Given the description of an element on the screen output the (x, y) to click on. 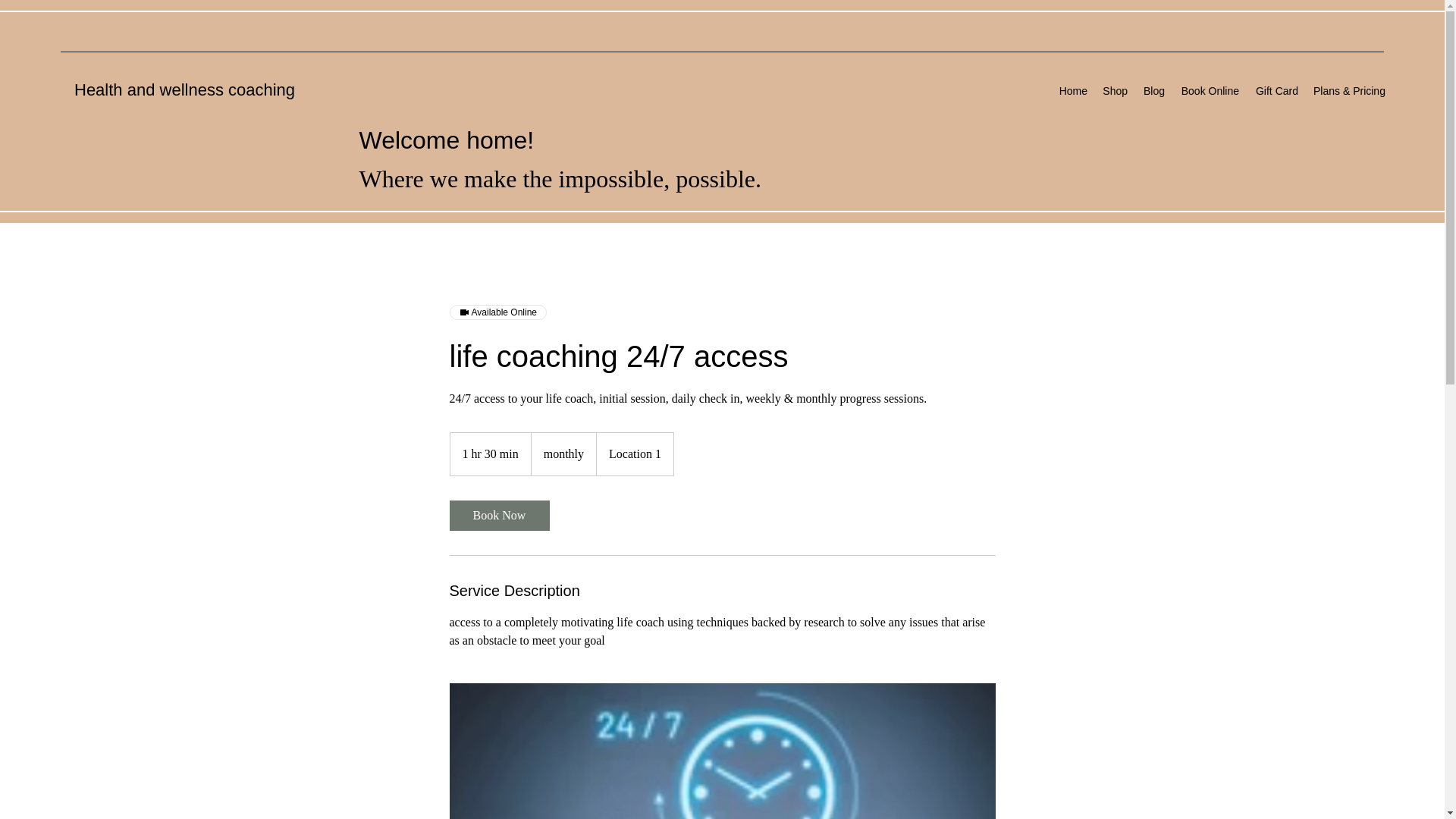
Health and wellness coaching (184, 89)
Shop (1114, 90)
Book Now (498, 515)
Home (1072, 90)
Blog (1153, 90)
Book Online (1209, 90)
Gift Card (1276, 90)
